Given the description of an element on the screen output the (x, y) to click on. 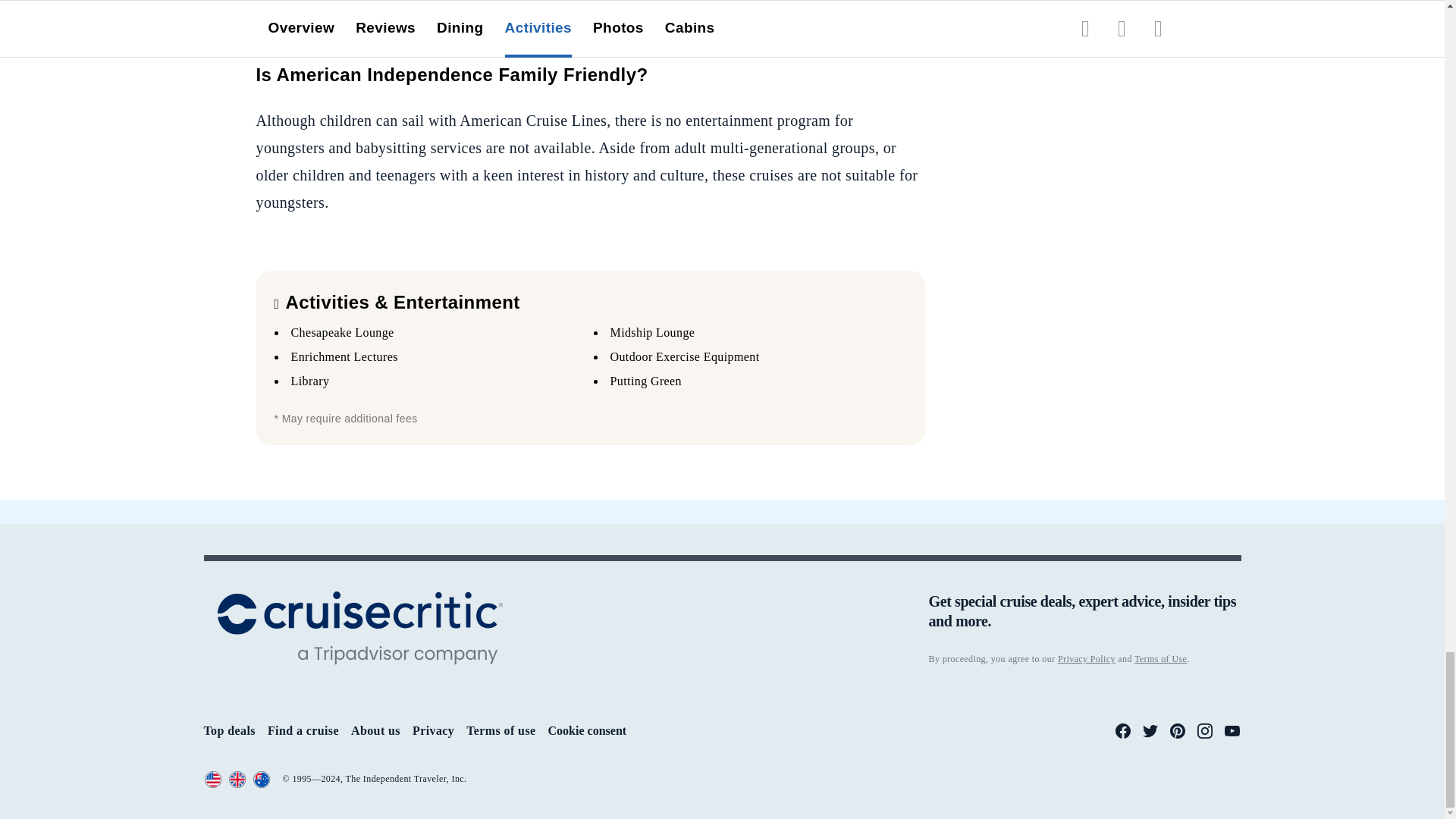
Privacy (433, 730)
Cookie consent (587, 730)
Terms of use (500, 730)
Terms of Use (1160, 658)
Find a cruise (303, 730)
About us (375, 730)
Top deals (228, 730)
Privacy Policy (1086, 658)
